Given the description of an element on the screen output the (x, y) to click on. 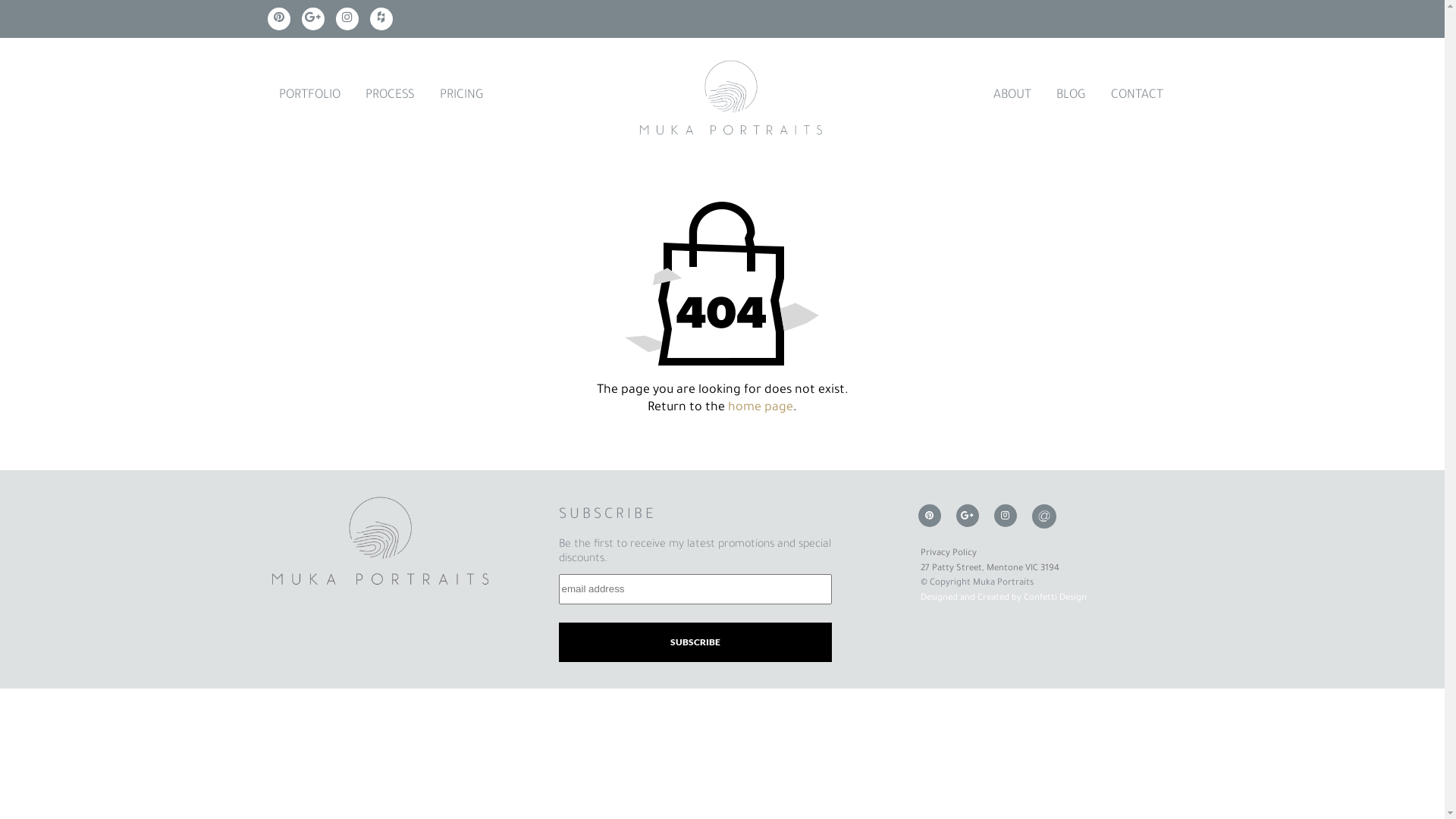
Privacy Policy Element type: text (948, 553)
ABOUT Element type: text (1012, 95)
Subscribe Element type: text (694, 642)
PORTFOLIO Element type: text (309, 95)
BLOG Element type: text (1070, 95)
CONTACT Element type: text (1136, 95)
27 Patty Street, Mentone VIC 3194 Element type: text (989, 569)
PROCESS Element type: text (389, 95)
Confetti Design Element type: text (1054, 598)
home page Element type: text (760, 407)
PRICING Element type: text (461, 95)
